Given the description of an element on the screen output the (x, y) to click on. 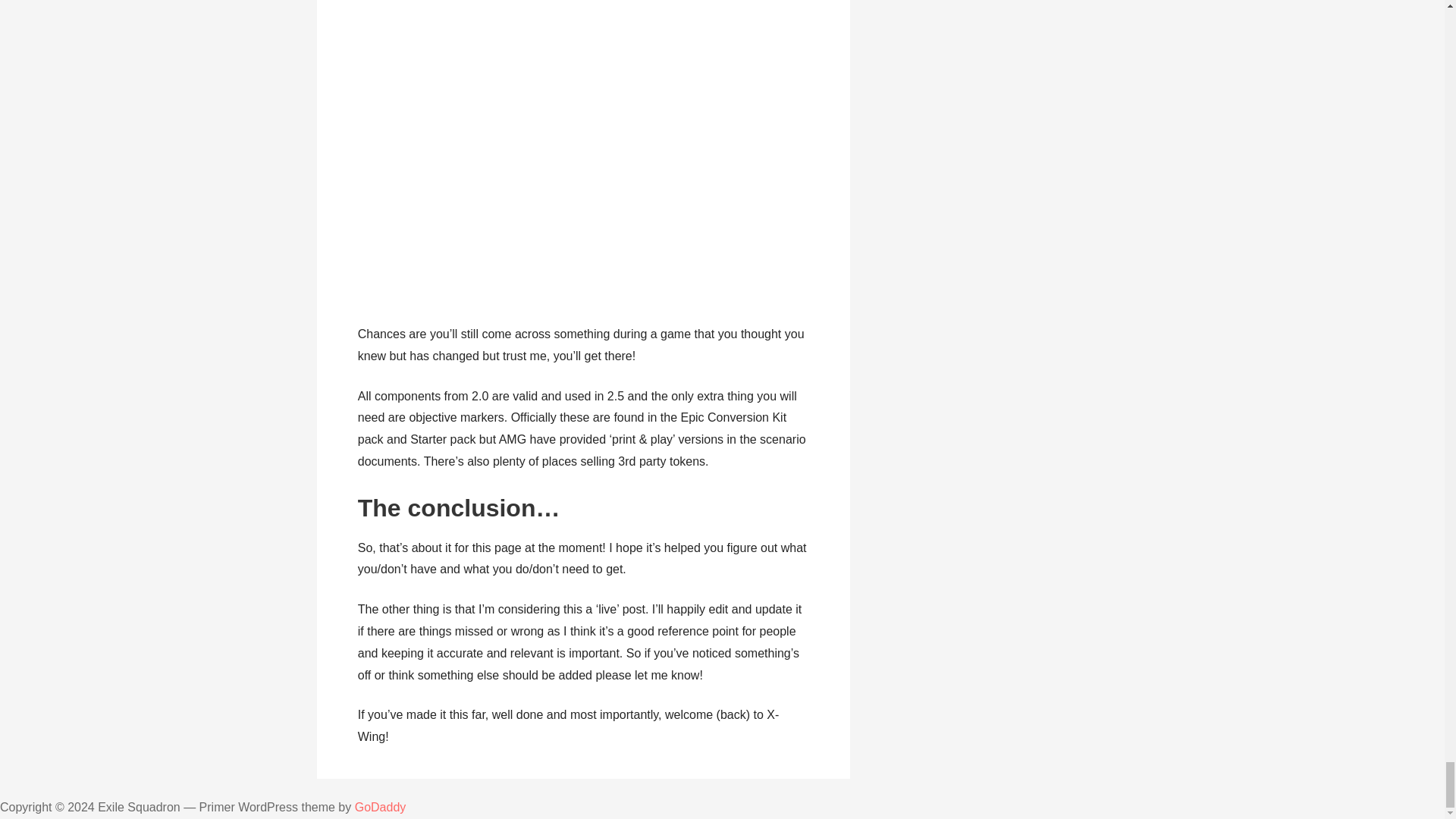
GoDaddy (380, 807)
